Given the description of an element on the screen output the (x, y) to click on. 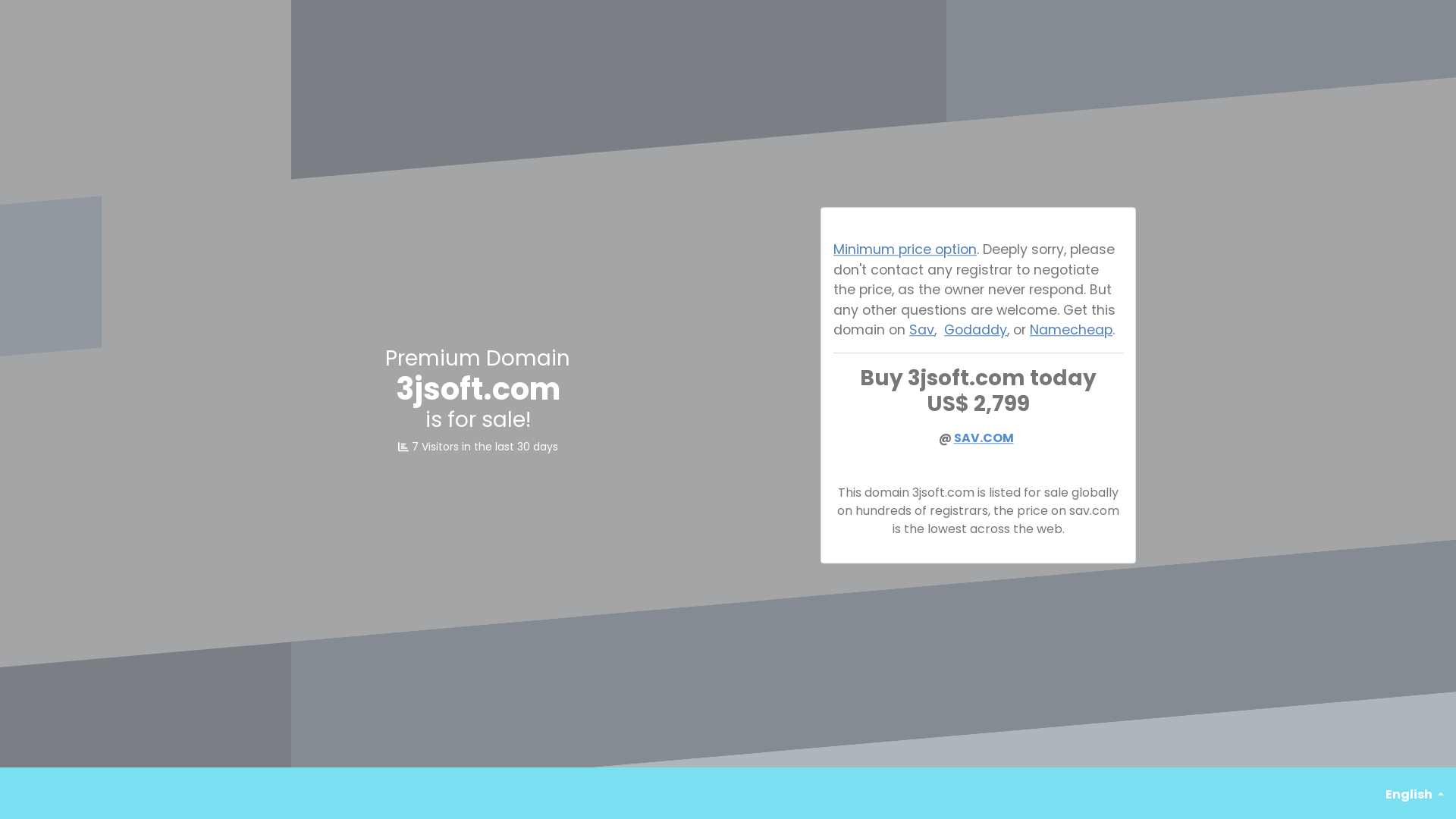
Minimum price option Element type: text (904, 250)
Godaddy Element type: text (975, 329)
Namecheap Element type: text (1070, 329)
SAV.COM Element type: text (983, 437)
English Element type: text (1414, 794)
Sav Element type: text (921, 329)
